Given the description of an element on the screen output the (x, y) to click on. 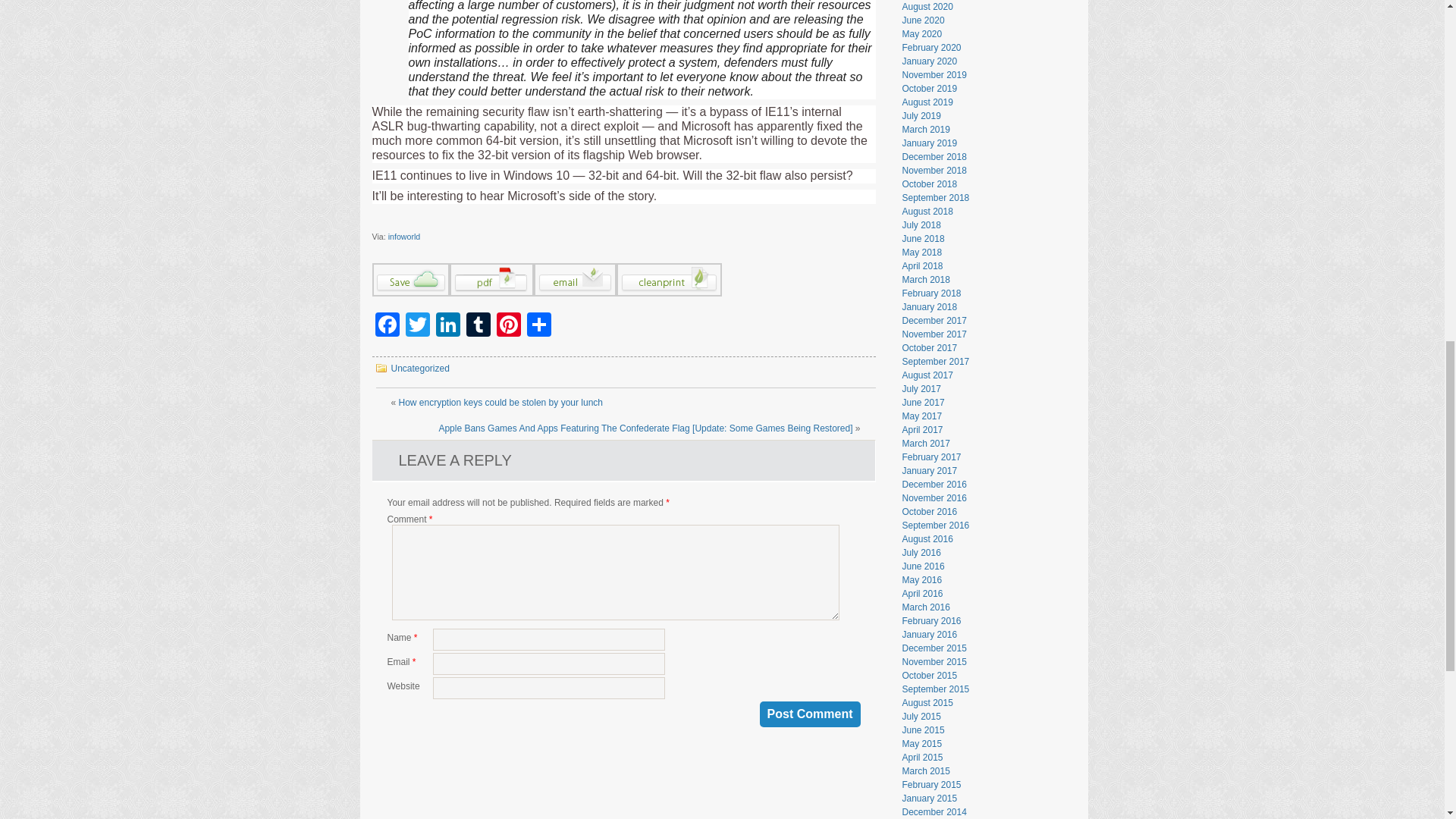
Pinterest (507, 326)
Pinterest (507, 326)
Email page (574, 293)
Facebook (386, 326)
Save page (409, 293)
Tumblr (478, 326)
Twitter (416, 326)
Uncategorized (420, 368)
Post Comment (810, 714)
Facebook (386, 326)
